Given the description of an element on the screen output the (x, y) to click on. 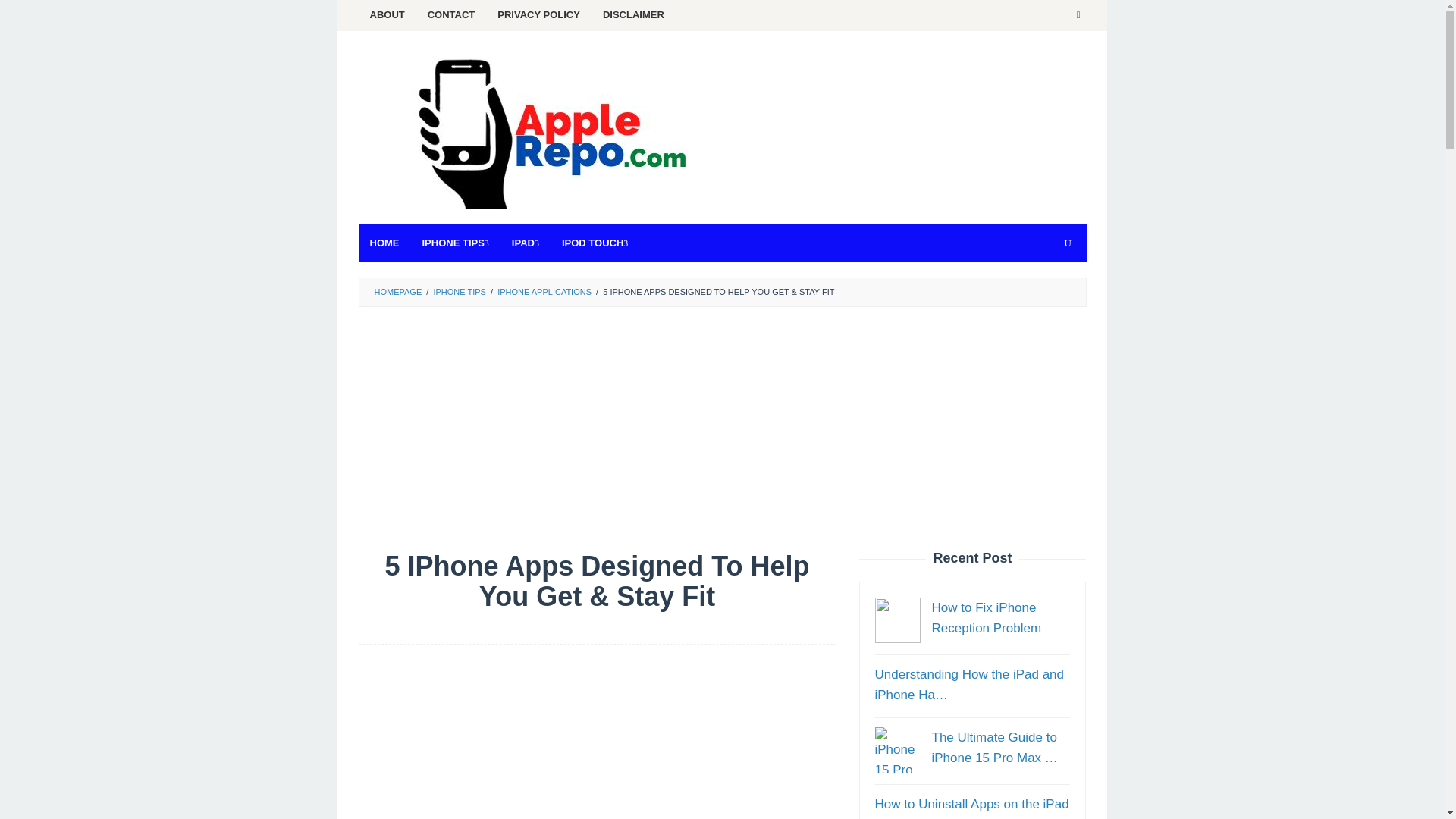
Advertisement (596, 739)
AppleRepo.com (547, 133)
HOMEPAGE (398, 291)
IPHONE TIPS (455, 243)
iPhone 15 Pro Max Clear Cases with MagSafe (897, 750)
Permalink to: How to Fix iPhone Reception Problem (986, 617)
bumper (897, 619)
